Given the description of an element on the screen output the (x, y) to click on. 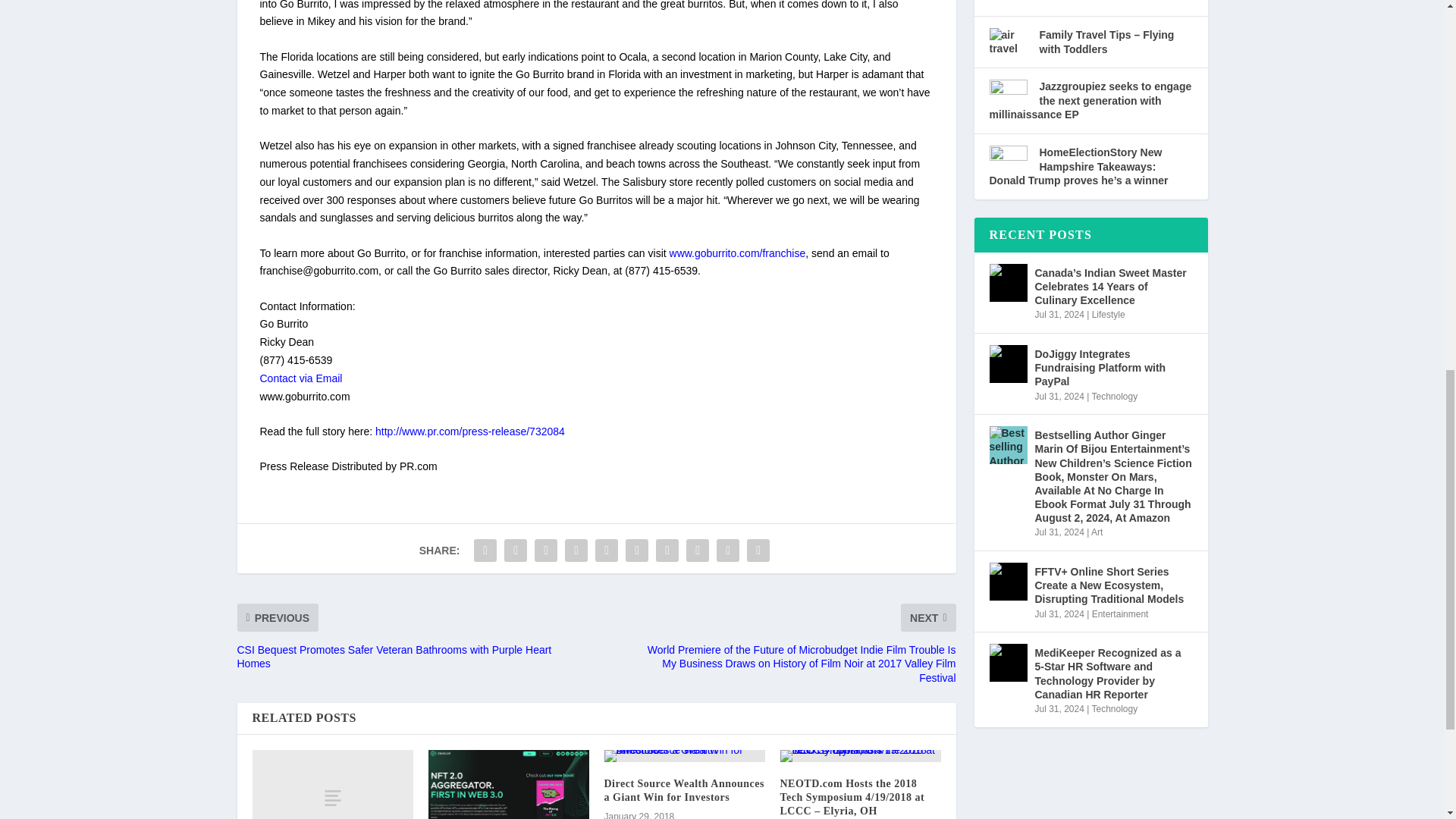
DoJiggy Integrates Fundraising Platform with PayPal (1007, 363)
Direct Source Wealth Announces a Giant Win for Investors (683, 790)
Direct Source Wealth Announces a Giant Win for Investors (684, 755)
Contact via Email (300, 378)
Blast NFT2.0 Ecosystem (508, 784)
